Given the description of an element on the screen output the (x, y) to click on. 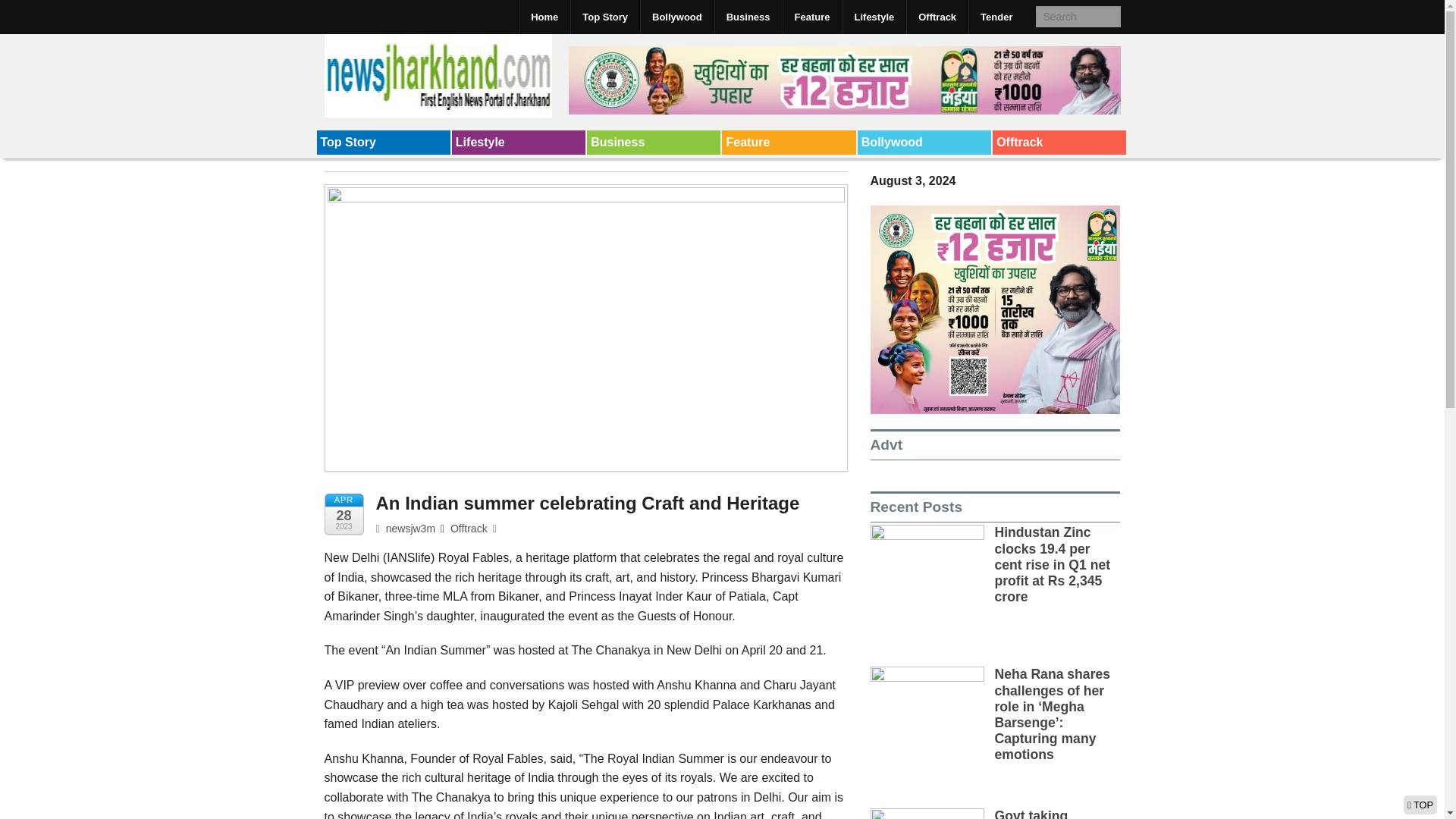
Home (544, 17)
View all posts by newsjw3m (405, 528)
Offtrack (468, 528)
Bollywood (924, 142)
Offtrack (1058, 142)
Bollywood (676, 17)
Business (653, 142)
Lifestyle (518, 142)
Feature (789, 142)
Feature (789, 142)
Top Story (383, 142)
Bollywood (924, 142)
